Given the description of an element on the screen output the (x, y) to click on. 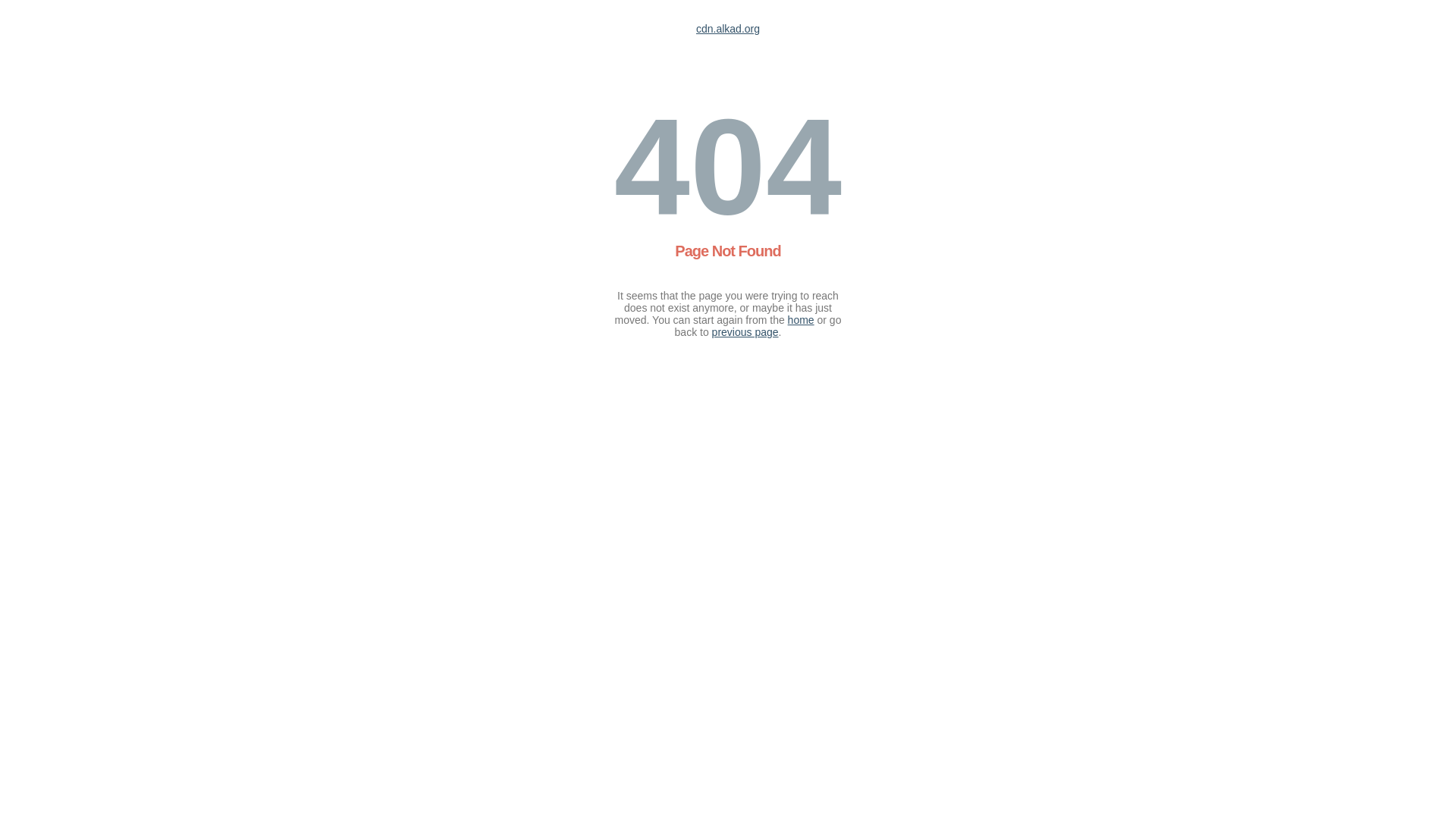
previous page Element type: text (745, 332)
home Element type: text (800, 319)
cdn.alkad.org Element type: text (727, 28)
